Given the description of an element on the screen output the (x, y) to click on. 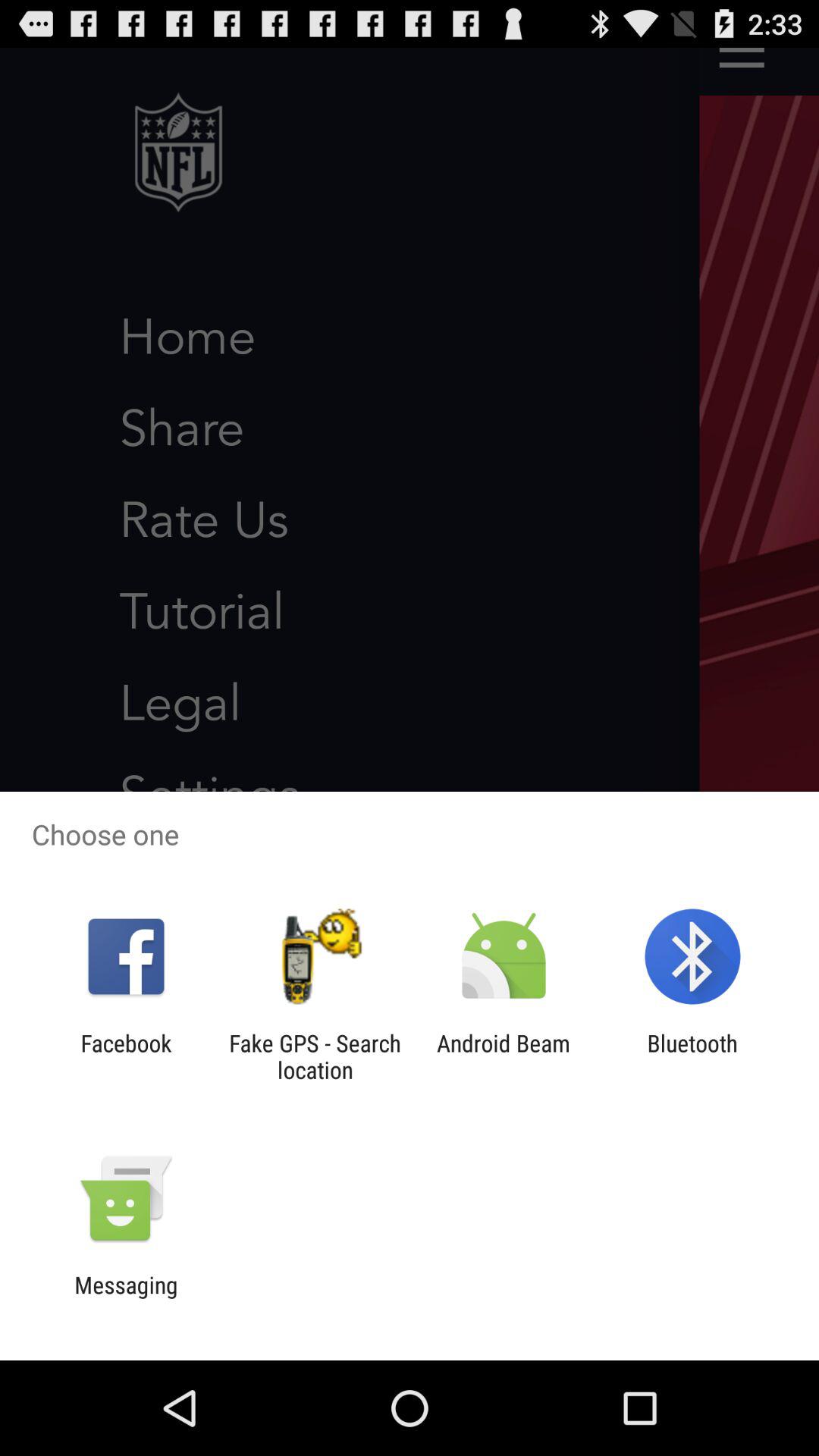
jump until the fake gps search icon (314, 1056)
